Given the description of an element on the screen output the (x, y) to click on. 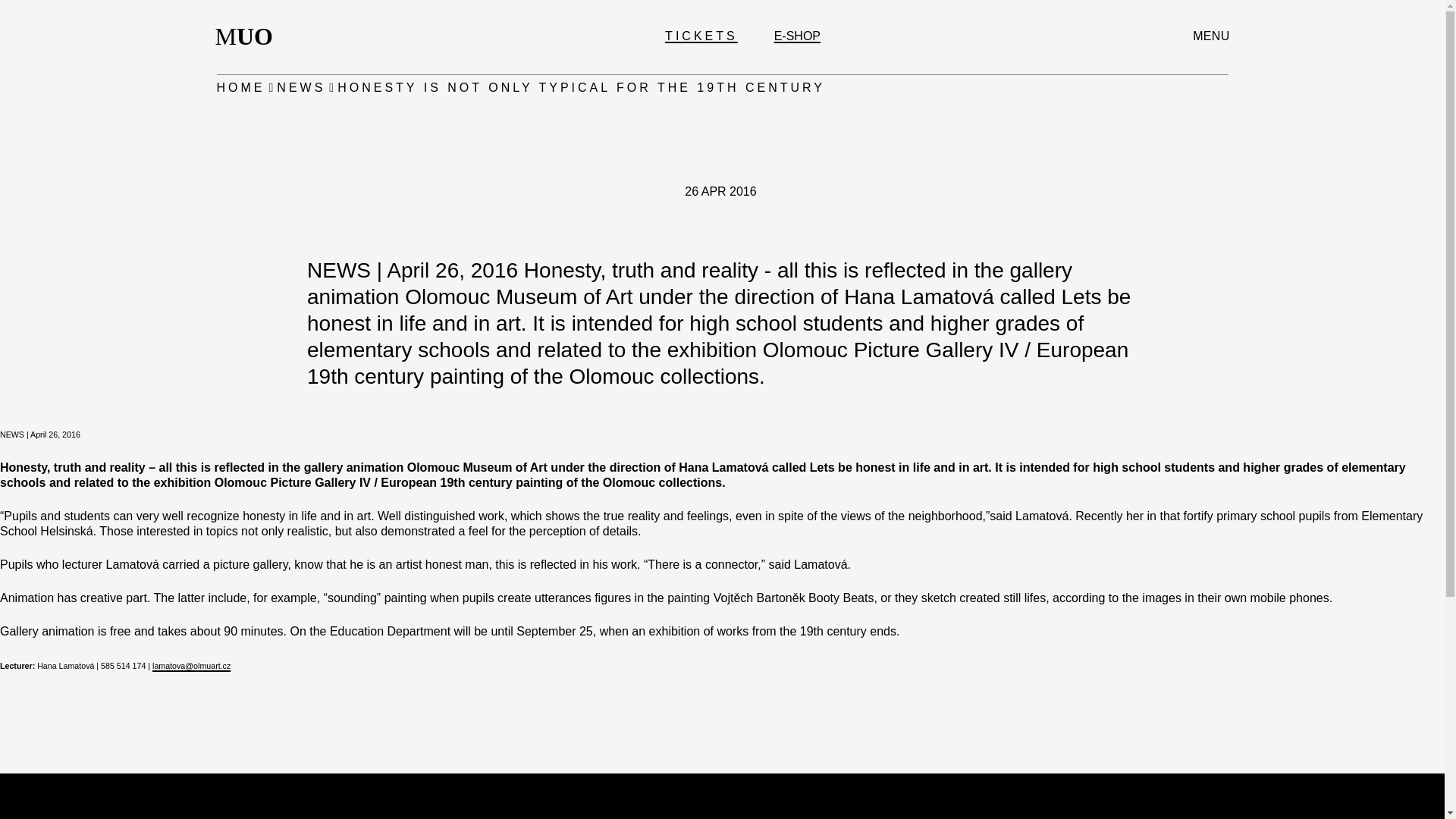
E-SHOP (797, 35)
HOME (248, 36)
NEWS (240, 88)
TICKETS (300, 88)
